Given the description of an element on the screen output the (x, y) to click on. 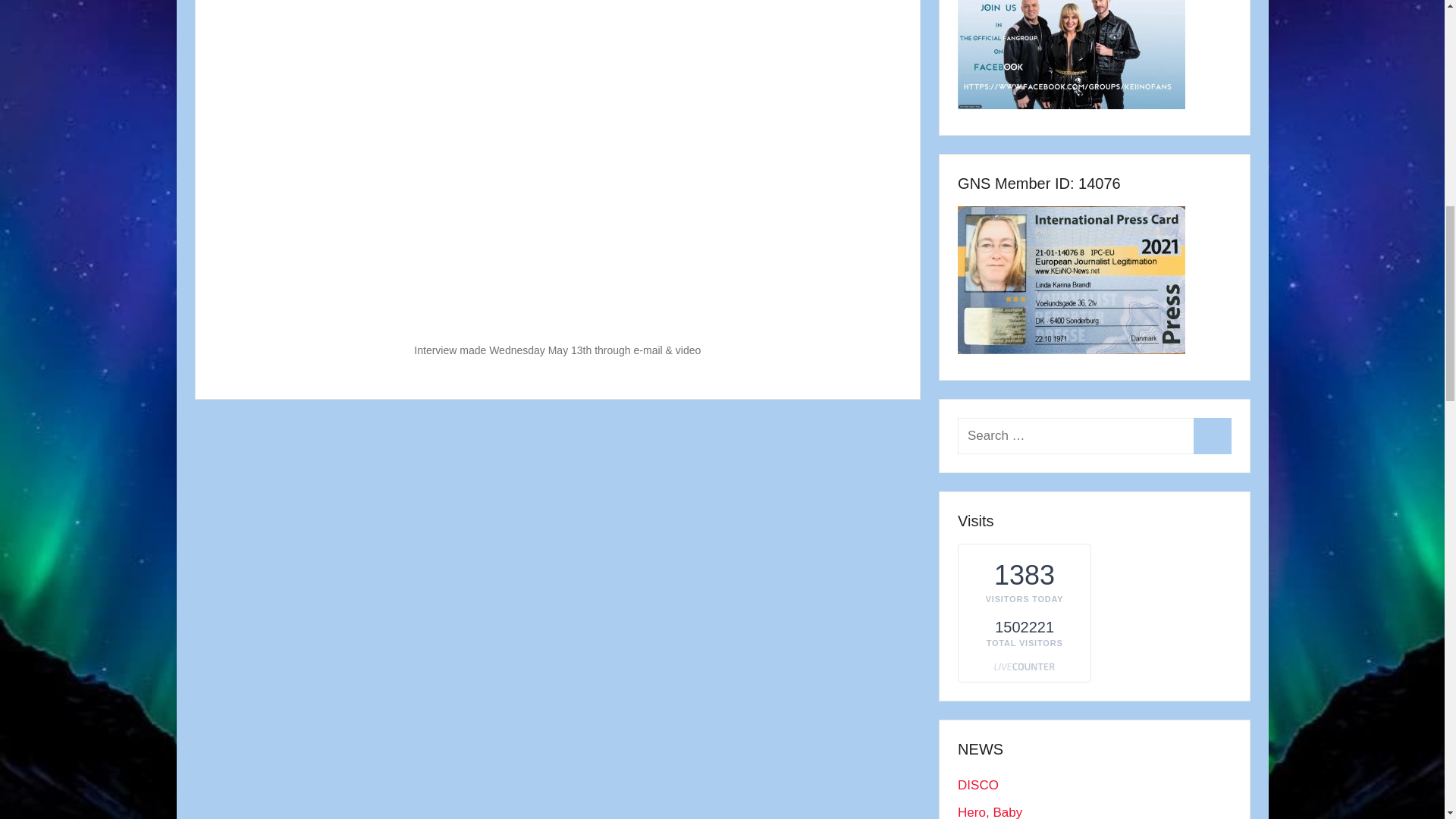
Search for: (1094, 435)
Search (1211, 435)
Hero, Baby (990, 812)
DISCO (978, 785)
